Given the description of an element on the screen output the (x, y) to click on. 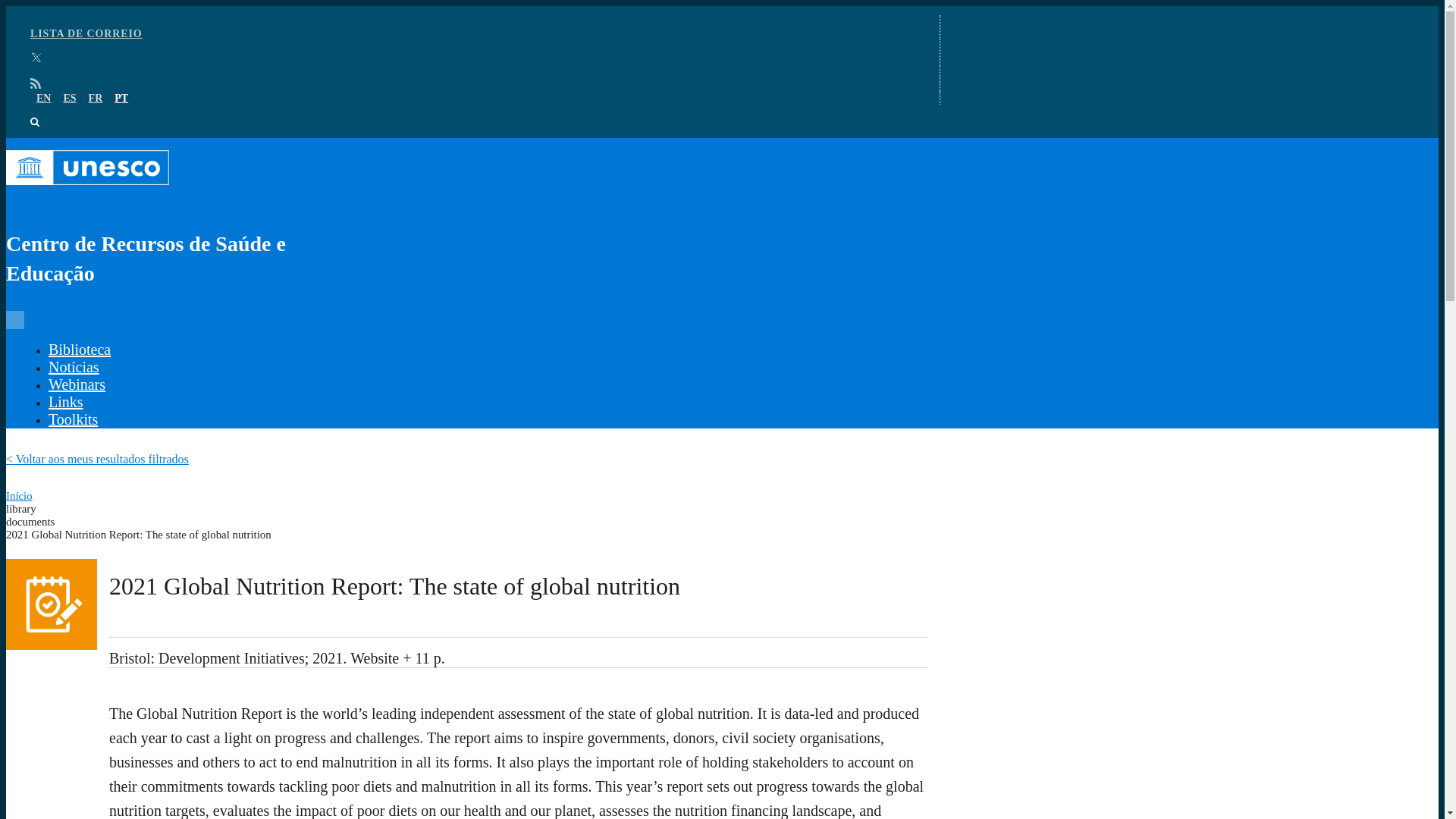
LISTA DE CORREIO (86, 33)
Webinars (76, 384)
Toolkits (72, 419)
Biblioteca (79, 349)
FR (95, 98)
ES (68, 98)
PT (121, 98)
EN (43, 98)
Links (65, 401)
